Given the description of an element on the screen output the (x, y) to click on. 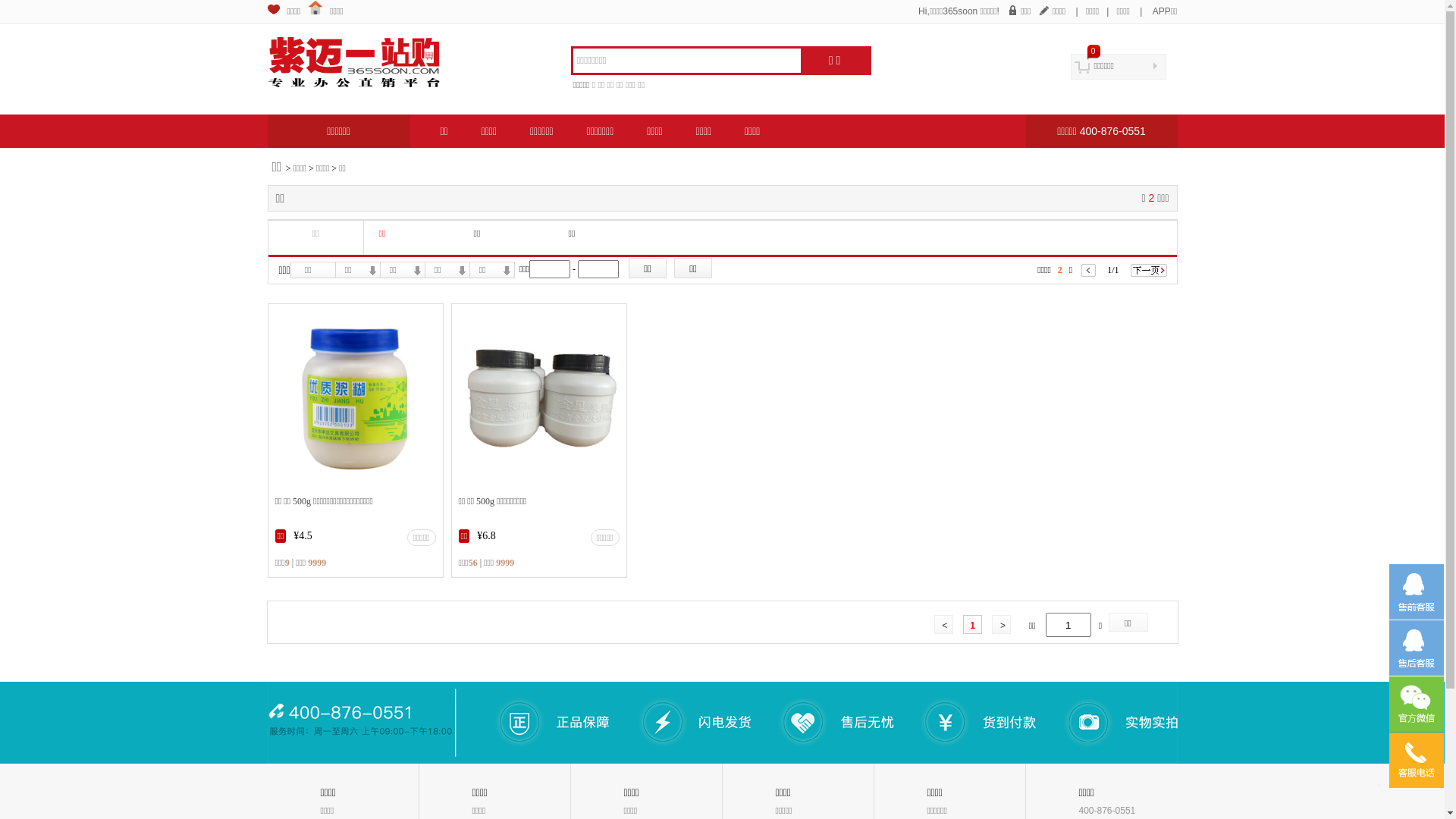
 > Element type: text (1000, 623)
1 Element type: text (972, 623)
 < Element type: text (943, 623)
